Given the description of an element on the screen output the (x, y) to click on. 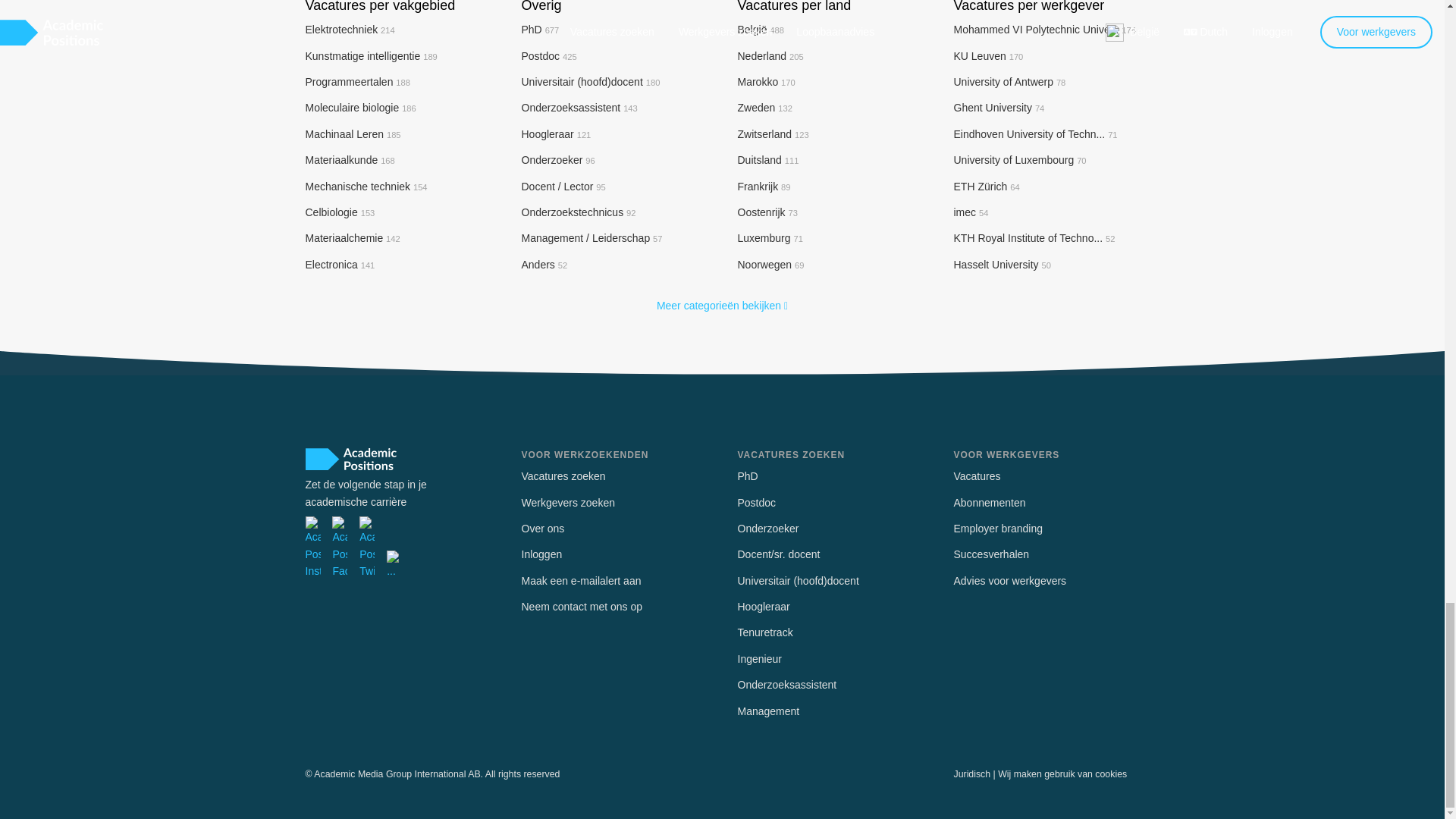
Kunstmatige intelligentie (370, 55)
Elektrotechniek (349, 29)
Postdoc (548, 55)
Materiaalkunde (349, 159)
Moleculaire biologie (359, 107)
Electronica (339, 264)
Machinaal Leren (352, 133)
Programmeertalen (357, 81)
Onderzoeksassistent (579, 107)
Mechanische techniek (365, 186)
Materiaalchemie (351, 237)
PhD (540, 29)
Celbiologie (339, 212)
